Given the description of an element on the screen output the (x, y) to click on. 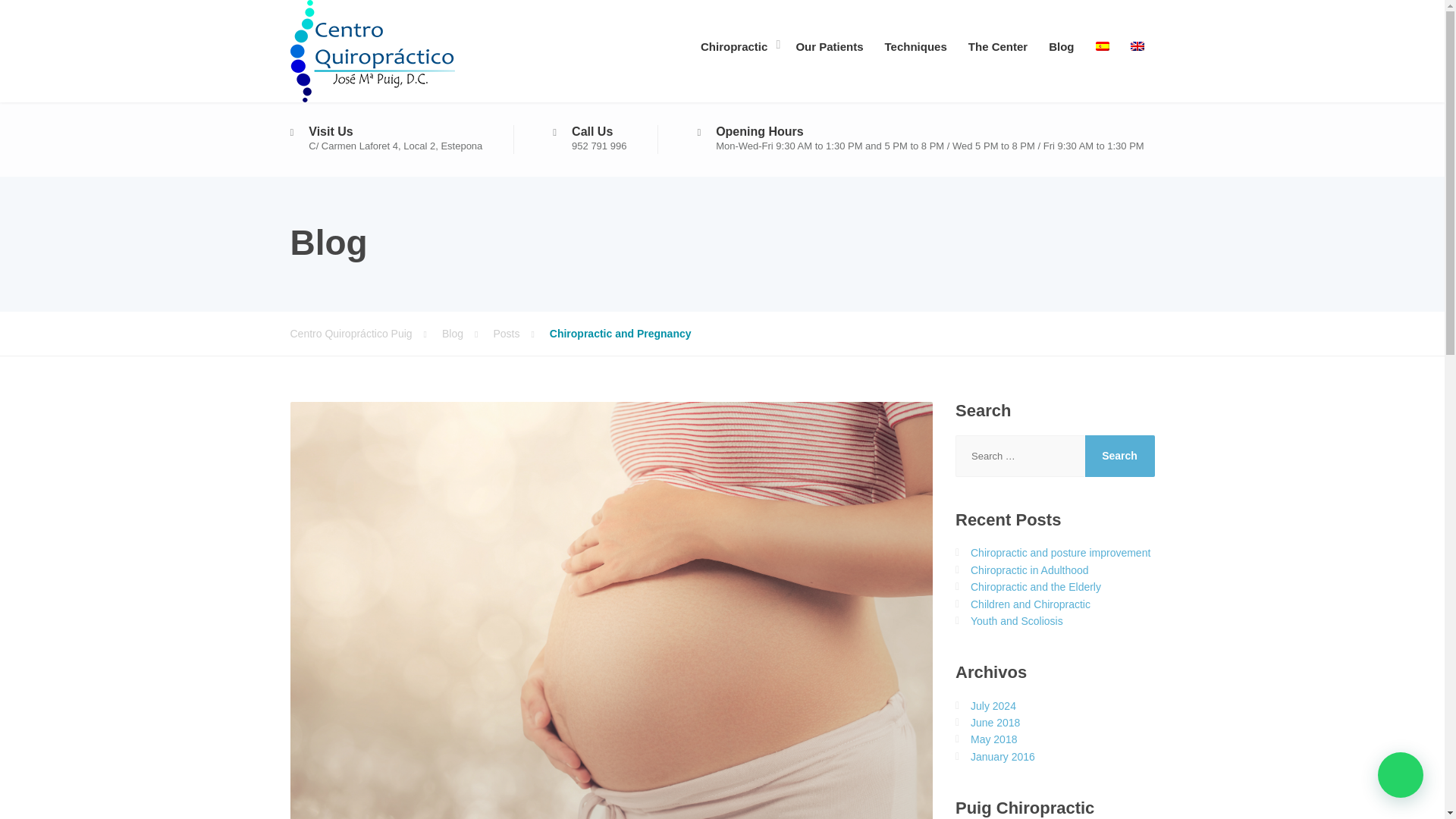
Chiropractic in Adulthood (1030, 570)
Youth and Scoliosis (1016, 621)
Go to the Posts Category archives. (520, 333)
Children and Chiropractic (1030, 604)
Chiropractic and posture improvement (1060, 552)
Search (1119, 455)
Blog (467, 333)
January 2016 (1003, 756)
May 2018 (993, 739)
Posts (520, 333)
Our Patients (828, 44)
Go to Blog. (467, 333)
Techniques (916, 44)
Chiropractic and the Elderly (1035, 586)
Search (1119, 455)
